Given the description of an element on the screen output the (x, y) to click on. 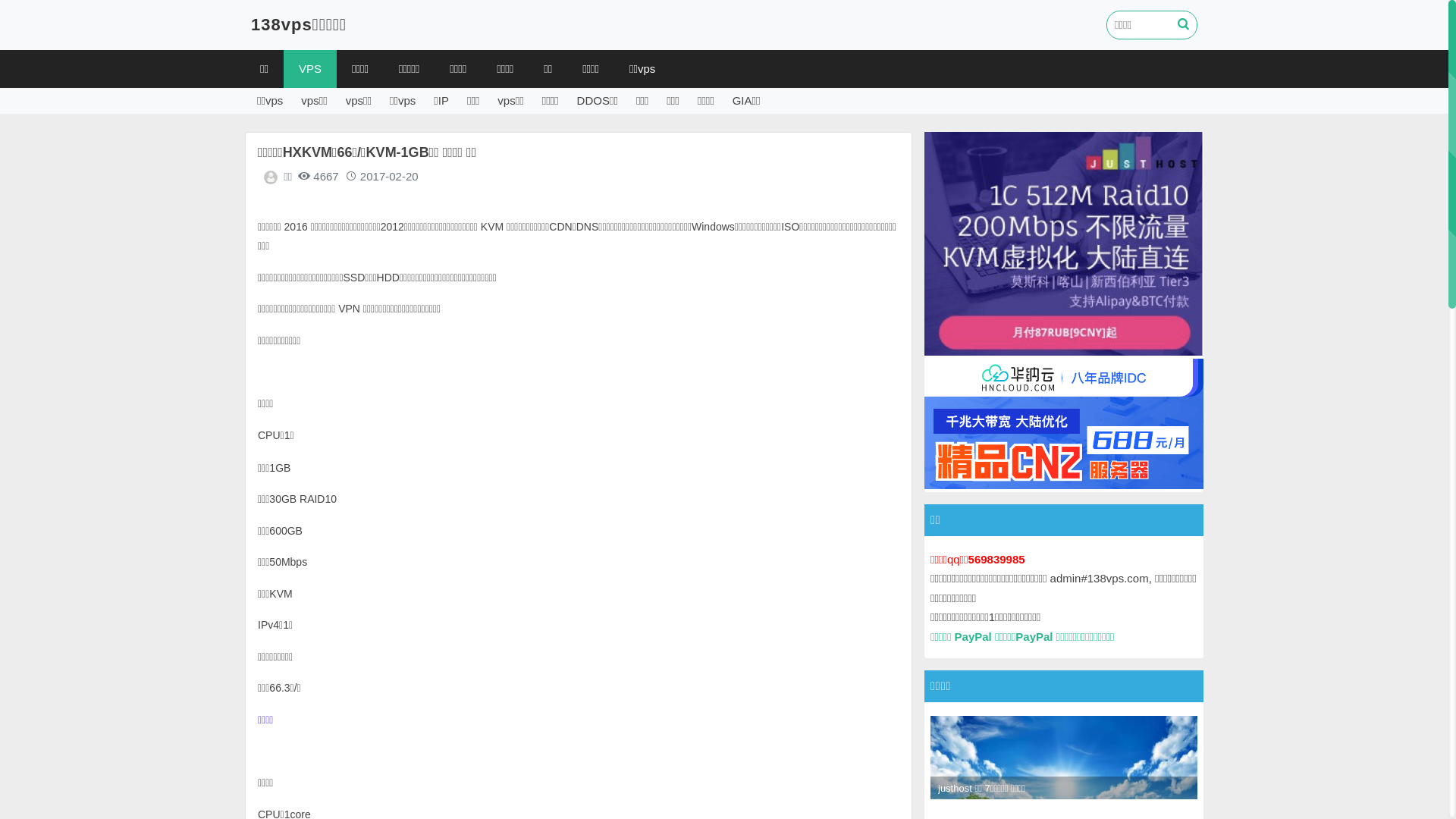
VPS Element type: text (309, 68)
